Given the description of an element on the screen output the (x, y) to click on. 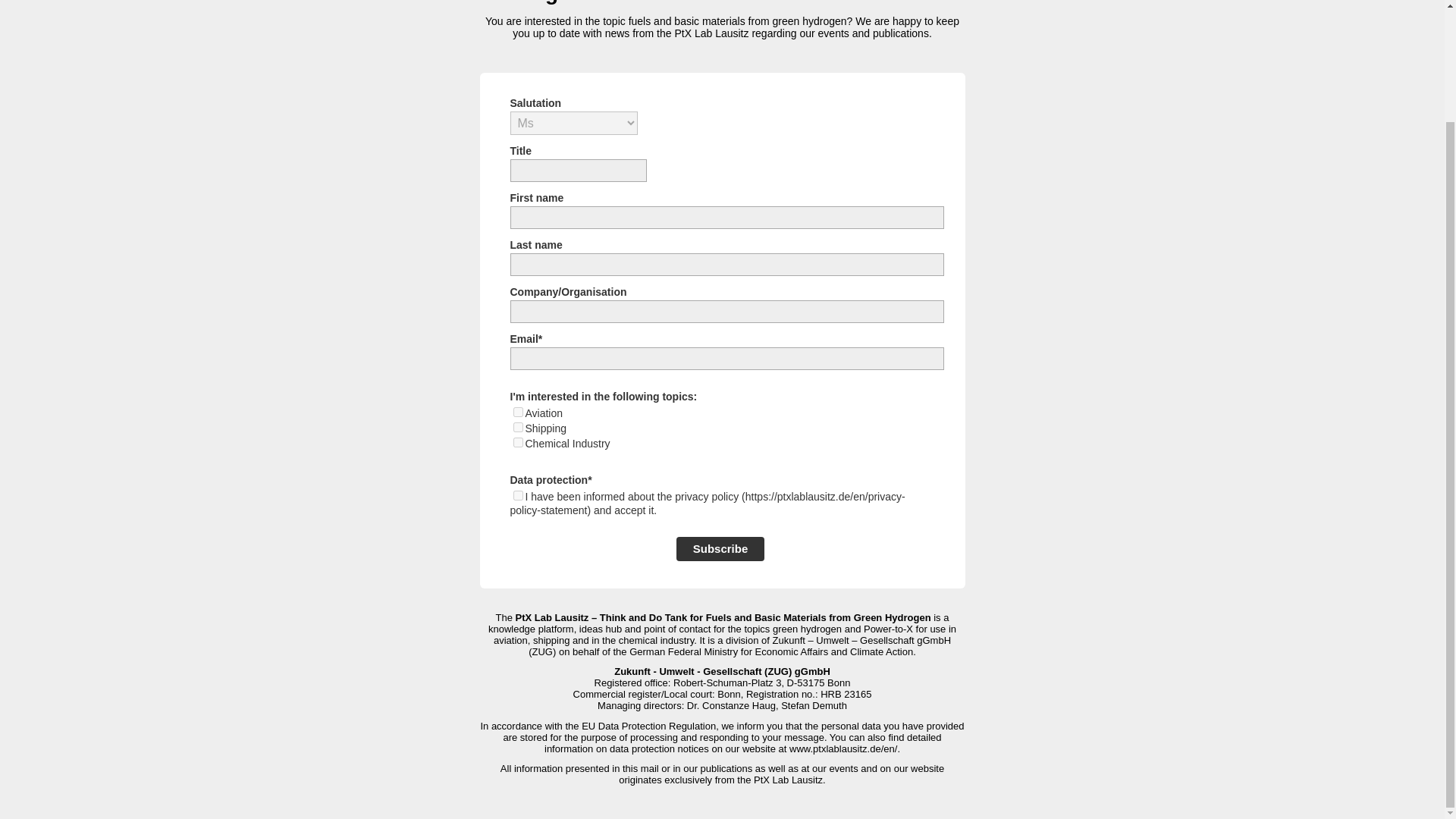
Subscribe (721, 549)
Chemical Industry (517, 442)
Shipping (517, 427)
Aviation (517, 411)
